Given the description of an element on the screen output the (x, y) to click on. 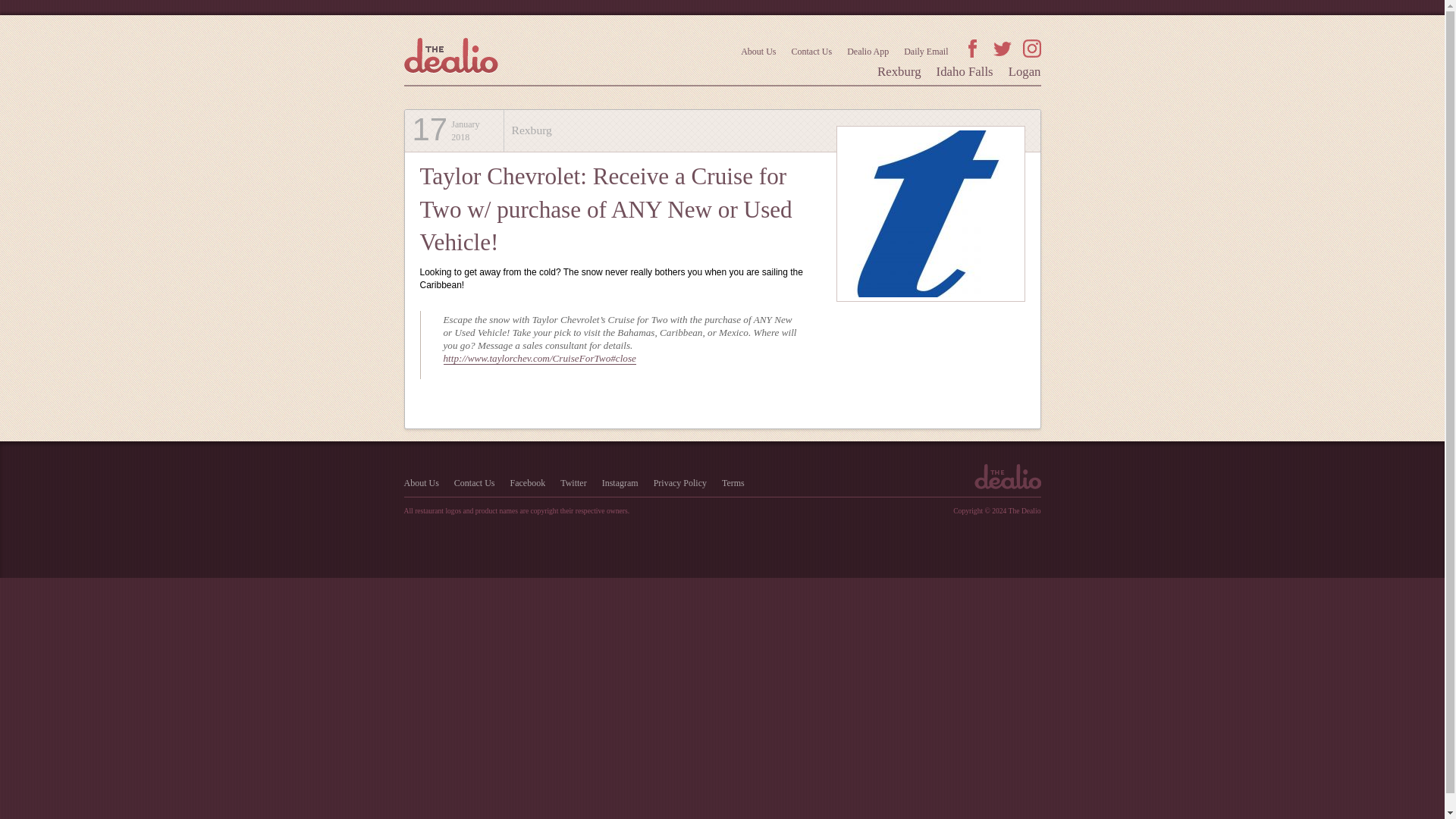
Twitter (1001, 48)
Privacy Policy (679, 482)
Terms (733, 482)
Daily Email (925, 50)
The Dealio (450, 55)
Contact Us (812, 50)
The Dealio (1007, 481)
About Us (758, 50)
Contact Us (474, 482)
Idaho Falls (964, 71)
Twitter (573, 482)
Facebook (528, 482)
About Us (420, 482)
Instagram (620, 482)
Dealio App (867, 50)
